Given the description of an element on the screen output the (x, y) to click on. 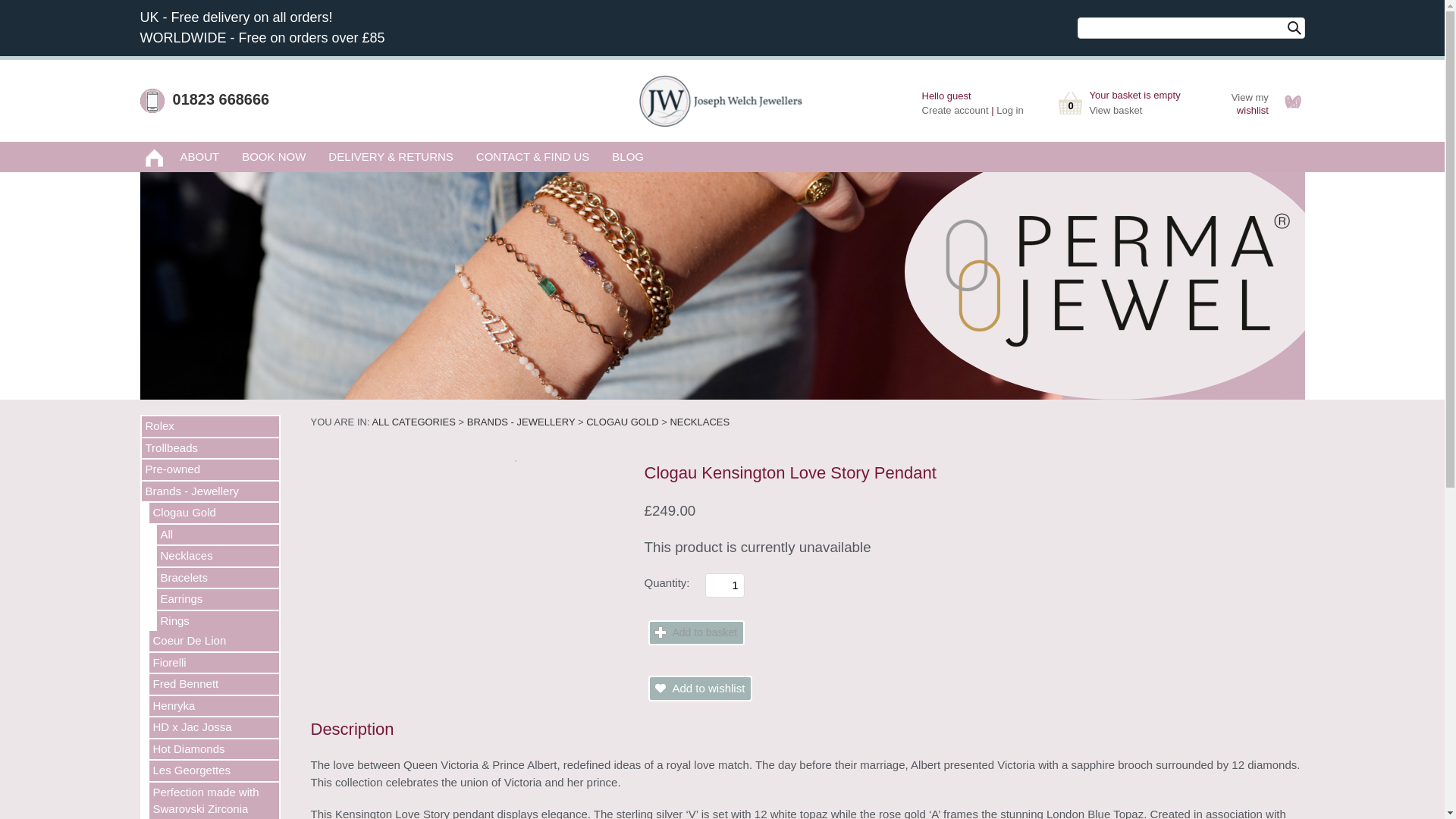
View my (1249, 96)
View basket (1115, 110)
0 (1069, 102)
HOME (153, 156)
BOOK NOW (273, 156)
Log in (1009, 110)
BLOG (627, 156)
1 (724, 585)
ABOUT (199, 156)
wishlist (1252, 109)
